Given the description of an element on the screen output the (x, y) to click on. 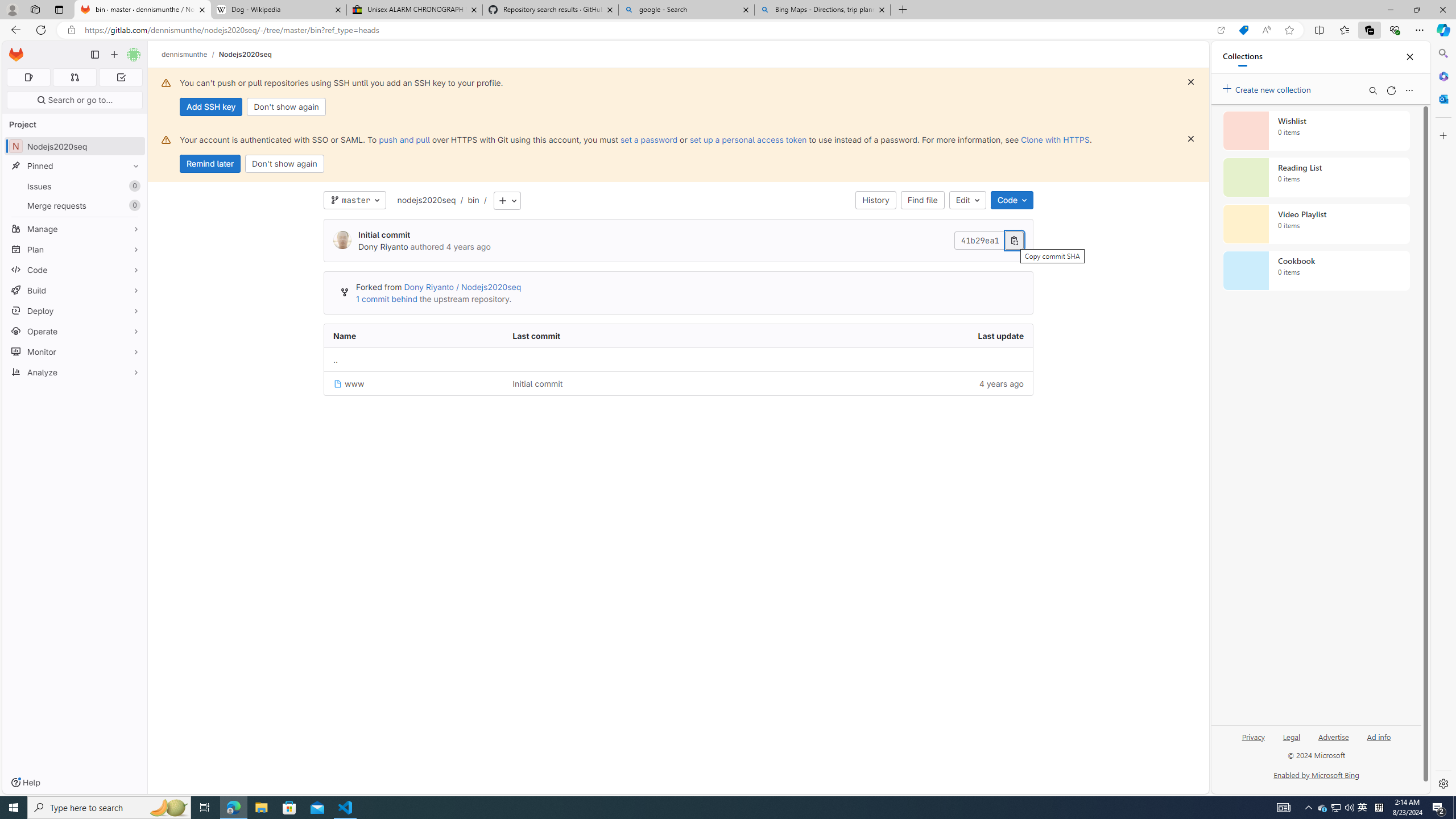
set up a personal access token (747, 139)
Go to parent (678, 359)
Add to tree (507, 200)
Add SSH key (211, 106)
Nodejs2020seq (245, 53)
Shopping in Microsoft Edge (1243, 29)
Manage (74, 228)
Deploy (74, 310)
Cookbook collection, 0 items (1316, 270)
